Given the description of an element on the screen output the (x, y) to click on. 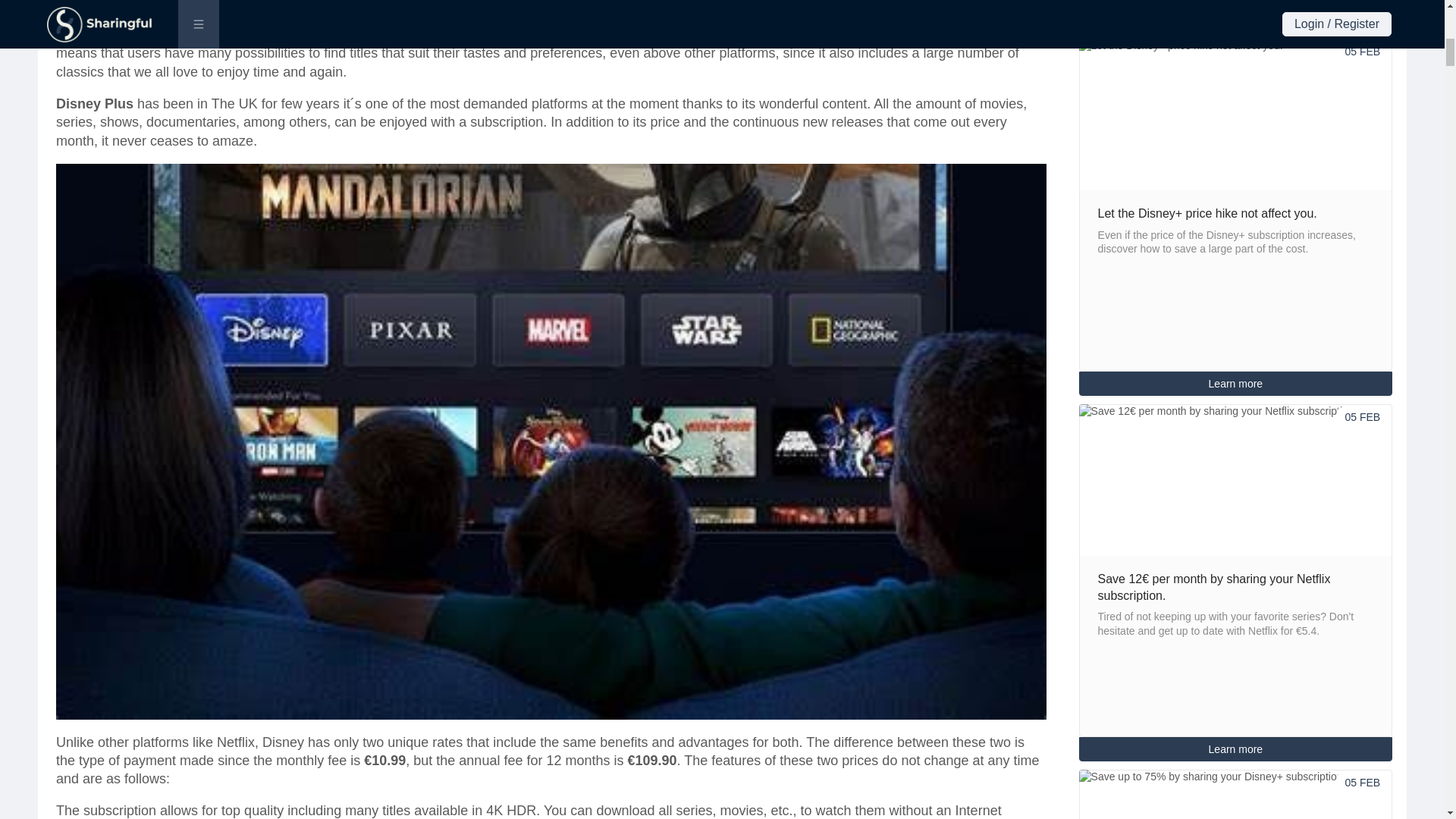
Learn more (1235, 748)
Learn more (1235, 749)
Learn more (1235, 383)
Learn more (1235, 383)
Learn more (1235, 17)
Learn more (1235, 17)
